Given the description of an element on the screen output the (x, y) to click on. 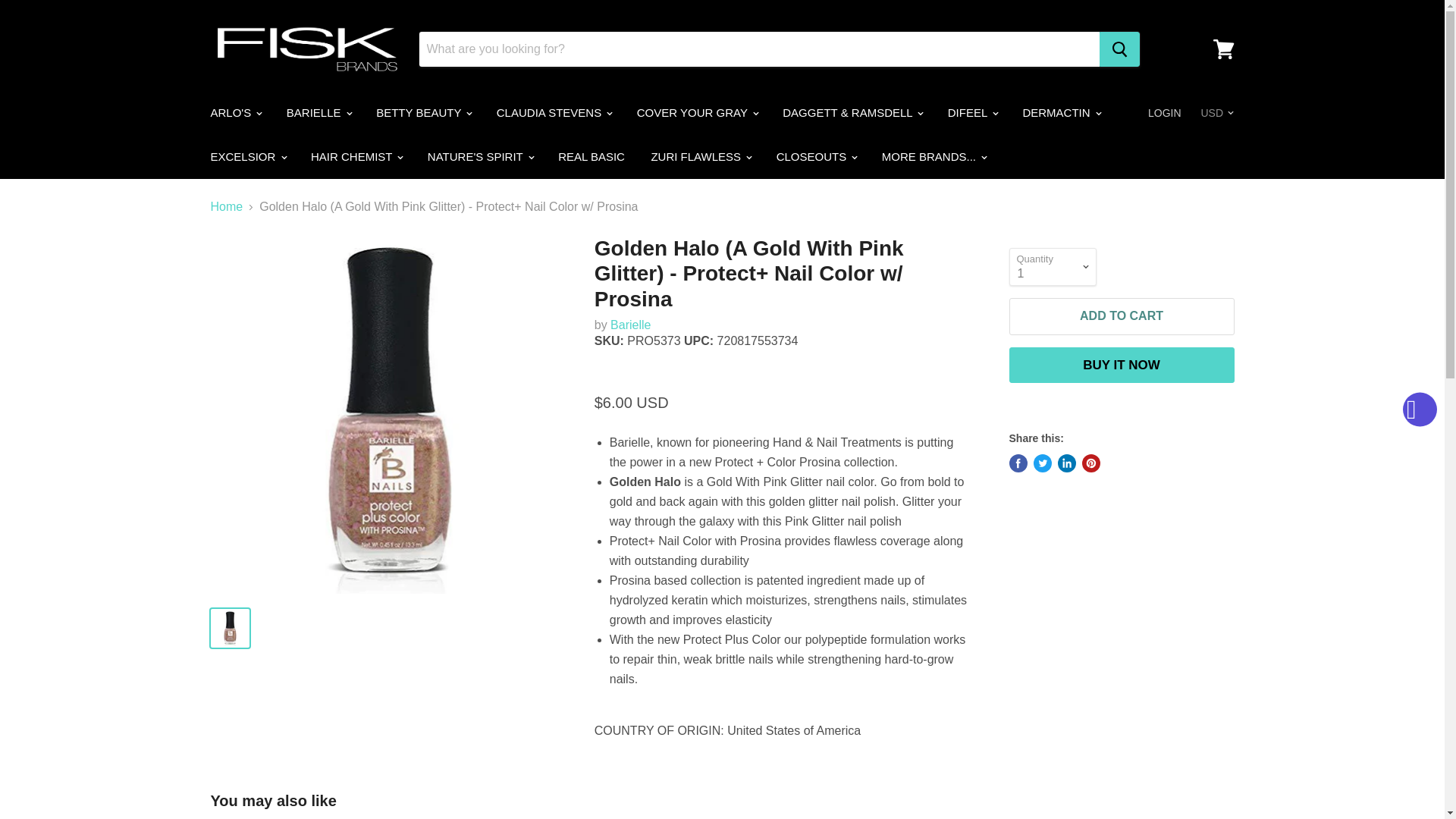
ARLO'S (234, 112)
BETTY BEAUTY (423, 112)
Barielle (630, 324)
View cart (1223, 48)
BARIELLE (318, 112)
